Given the description of an element on the screen output the (x, y) to click on. 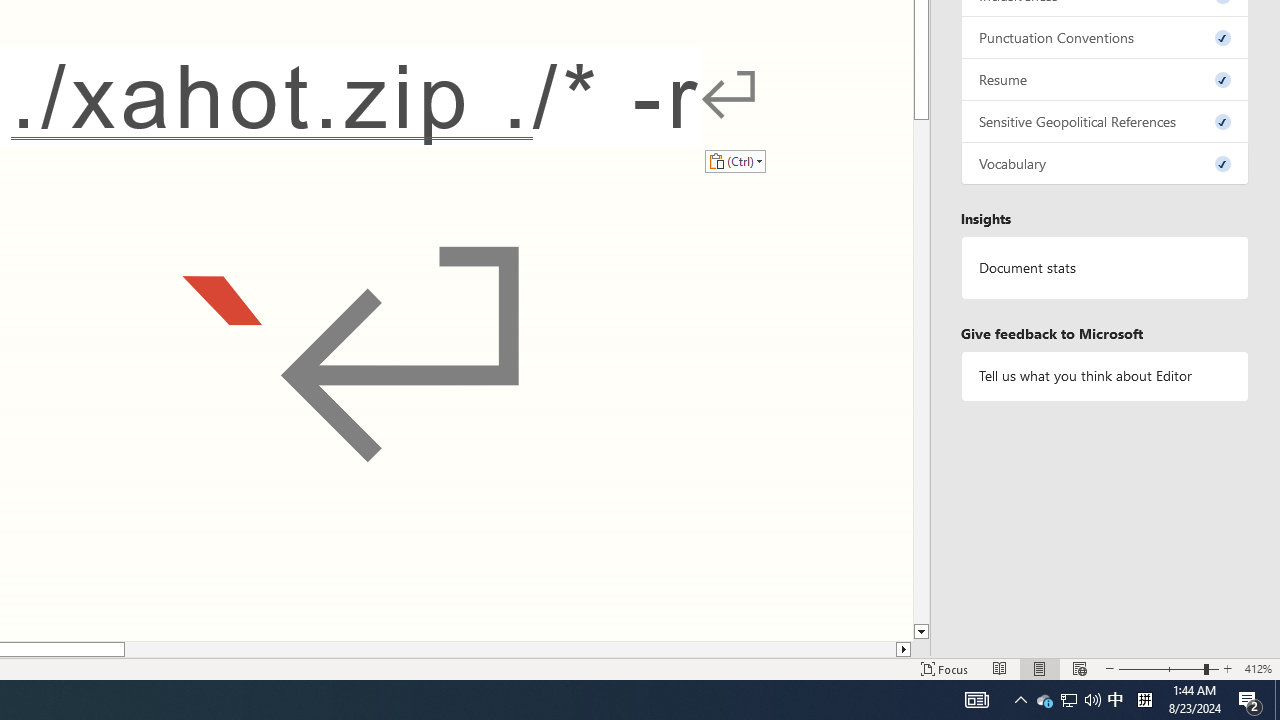
Zoom 412% (1258, 668)
Page down (921, 372)
Vocabulary, 0 issues. Press space or enter to review items. (1105, 163)
